Given the description of an element on the screen output the (x, y) to click on. 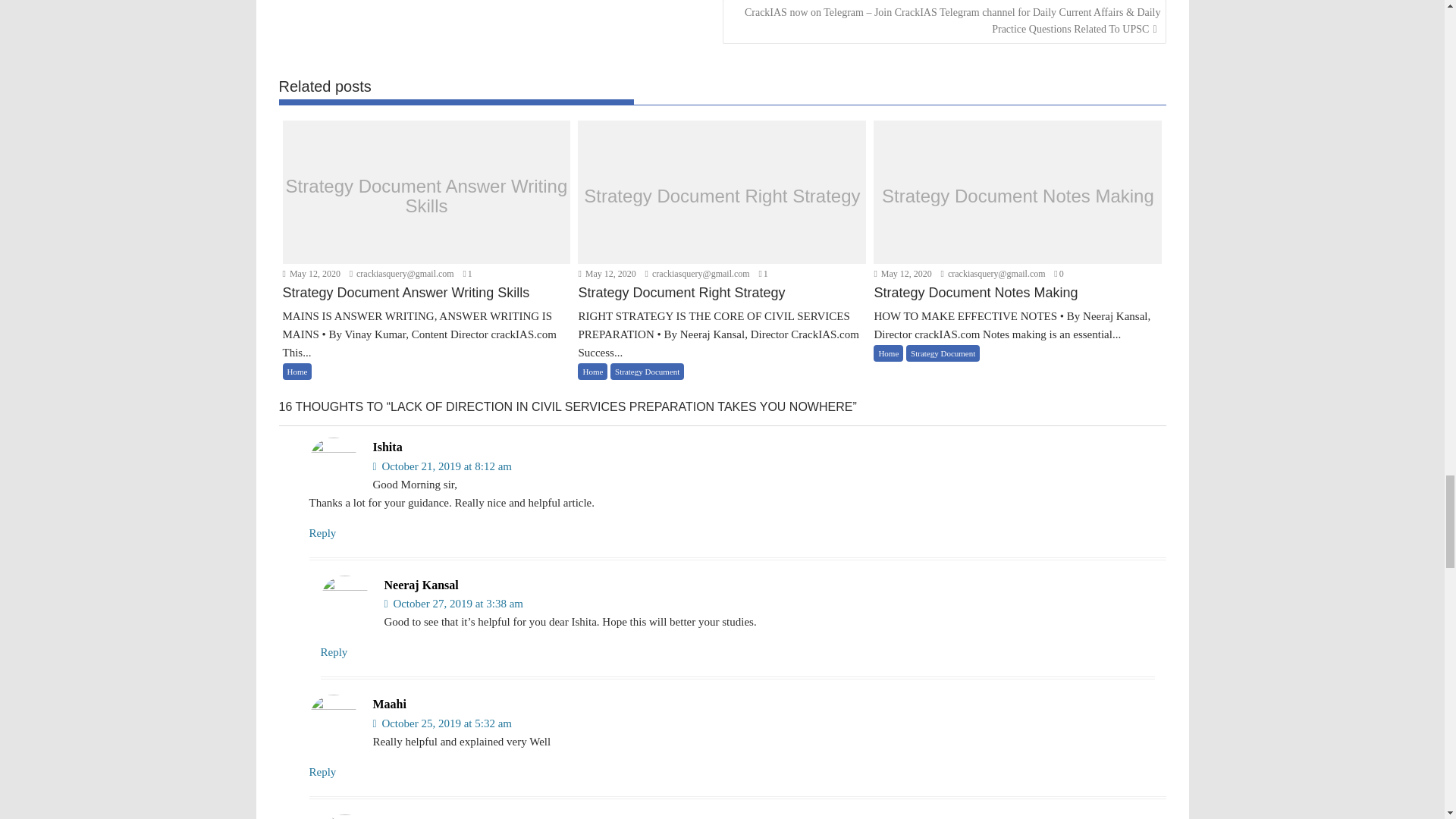
Strategy Document Right Strategy (722, 196)
May 12, 2020 (310, 273)
Home (296, 371)
Strategy Document Answer Writing Skills (426, 196)
Home (592, 371)
Strategy Document Right Strategy (722, 302)
May 12, 2020 (606, 273)
Strategy Document (647, 371)
Strategy Document Answer Writing Skills (426, 302)
